Given the description of an element on the screen output the (x, y) to click on. 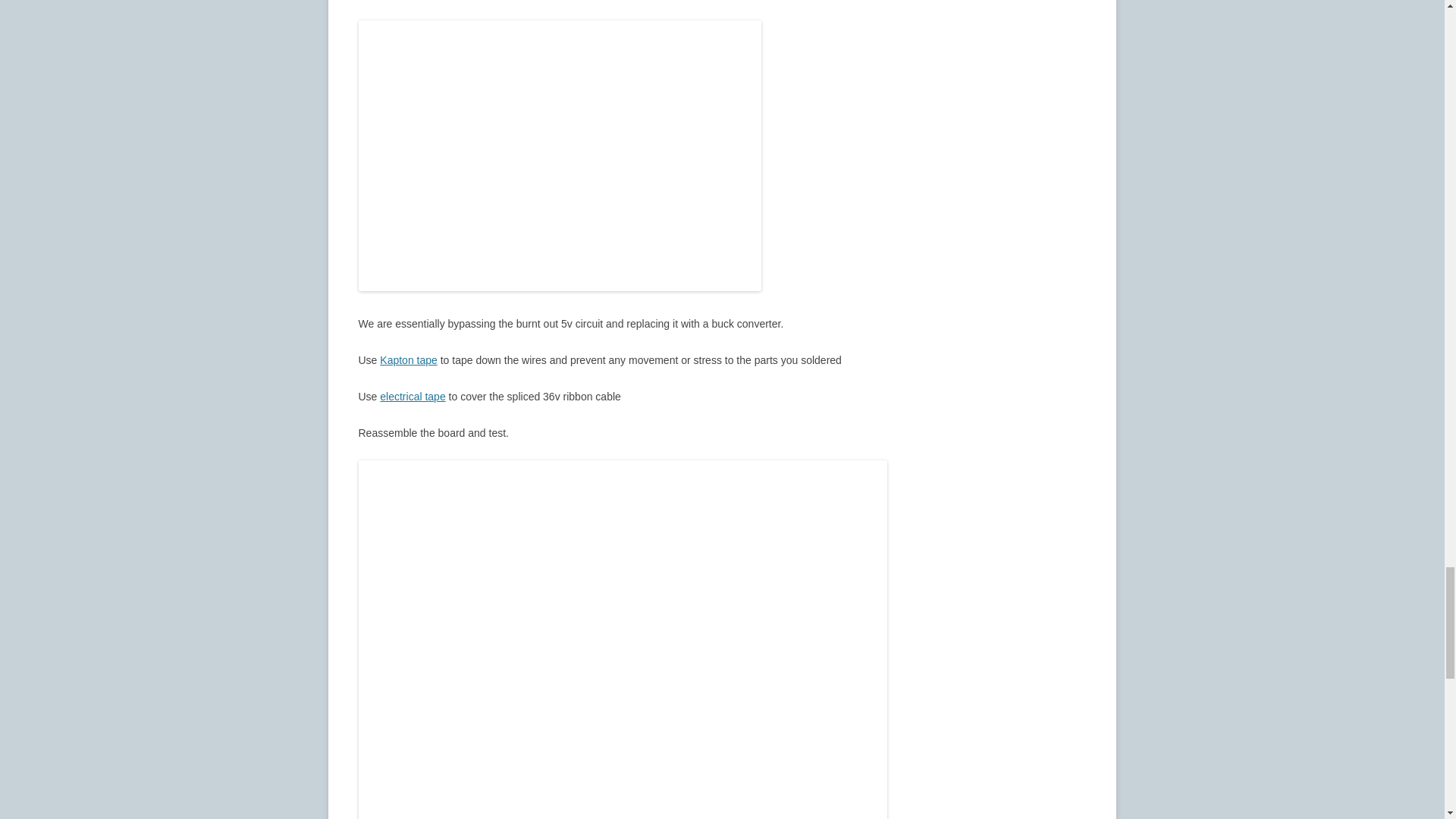
electrical tape (412, 396)
Kapton tape (409, 359)
